Given the description of an element on the screen output the (x, y) to click on. 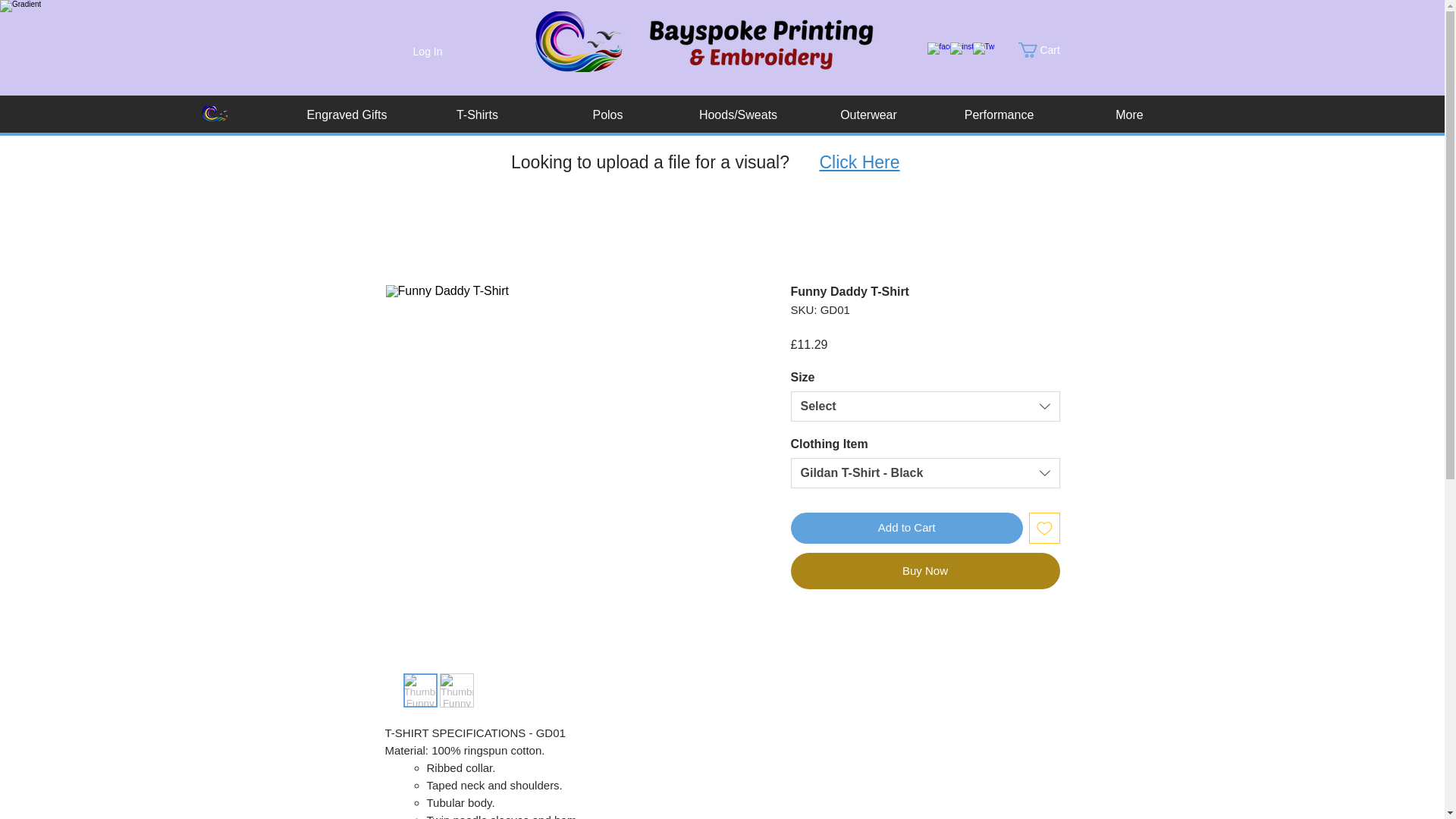
Performance (999, 114)
Cart (1047, 49)
Cart (1047, 49)
Polos (607, 114)
T-Shirts (477, 114)
Engraved Gifts (347, 114)
Outerwear (868, 114)
Log In (427, 51)
